Given the description of an element on the screen output the (x, y) to click on. 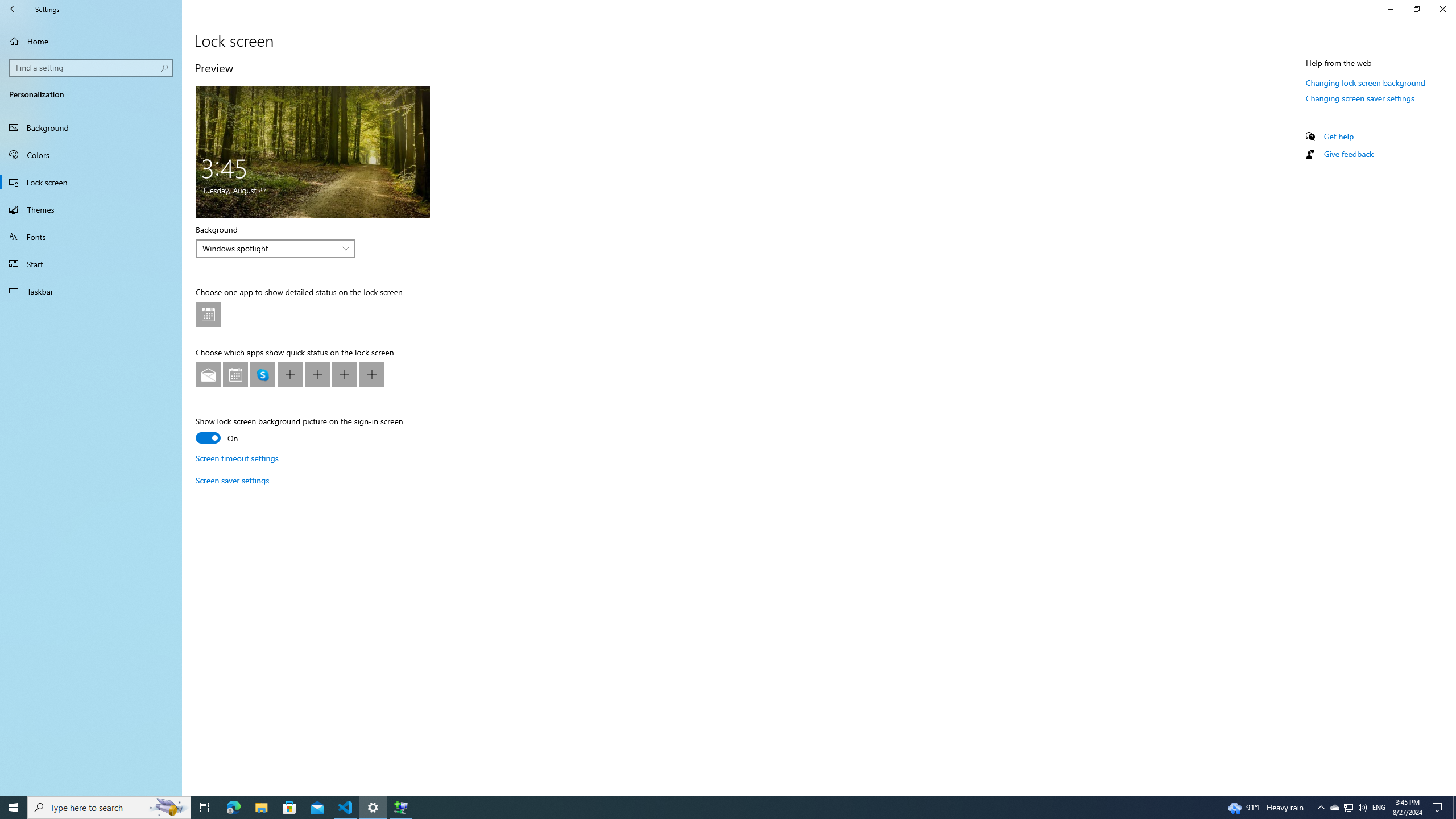
Skype (262, 374)
Themes (91, 208)
Changing screen saver settings (1359, 97)
Lock screen app quick status at position 4 (290, 374)
